Given the description of an element on the screen output the (x, y) to click on. 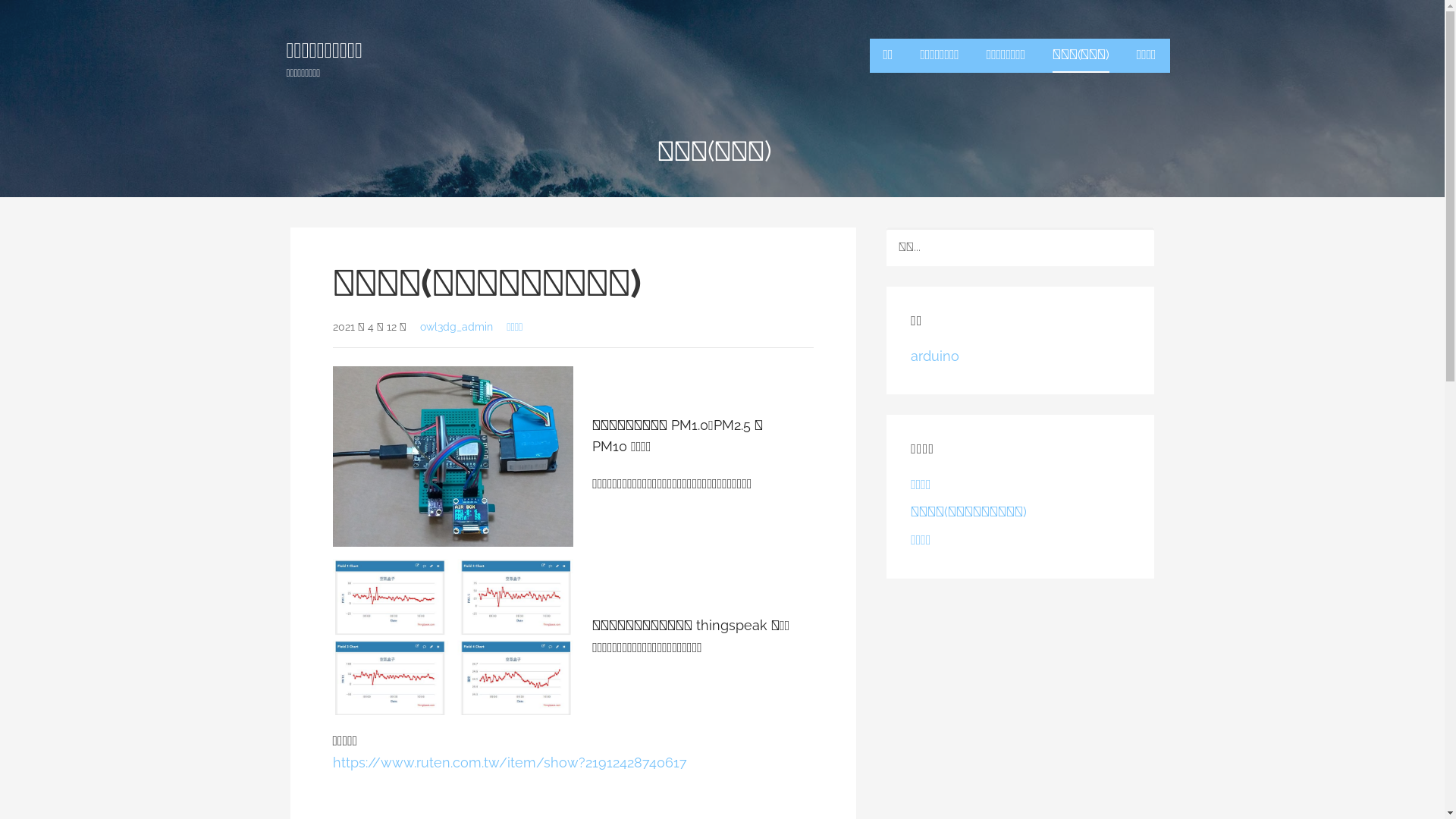
https://www.ruten.com.tw/item/show?21912428740617 Element type: text (509, 762)
owl3dg_admin Element type: text (456, 326)
arduino Element type: text (934, 356)
